Given the description of an element on the screen output the (x, y) to click on. 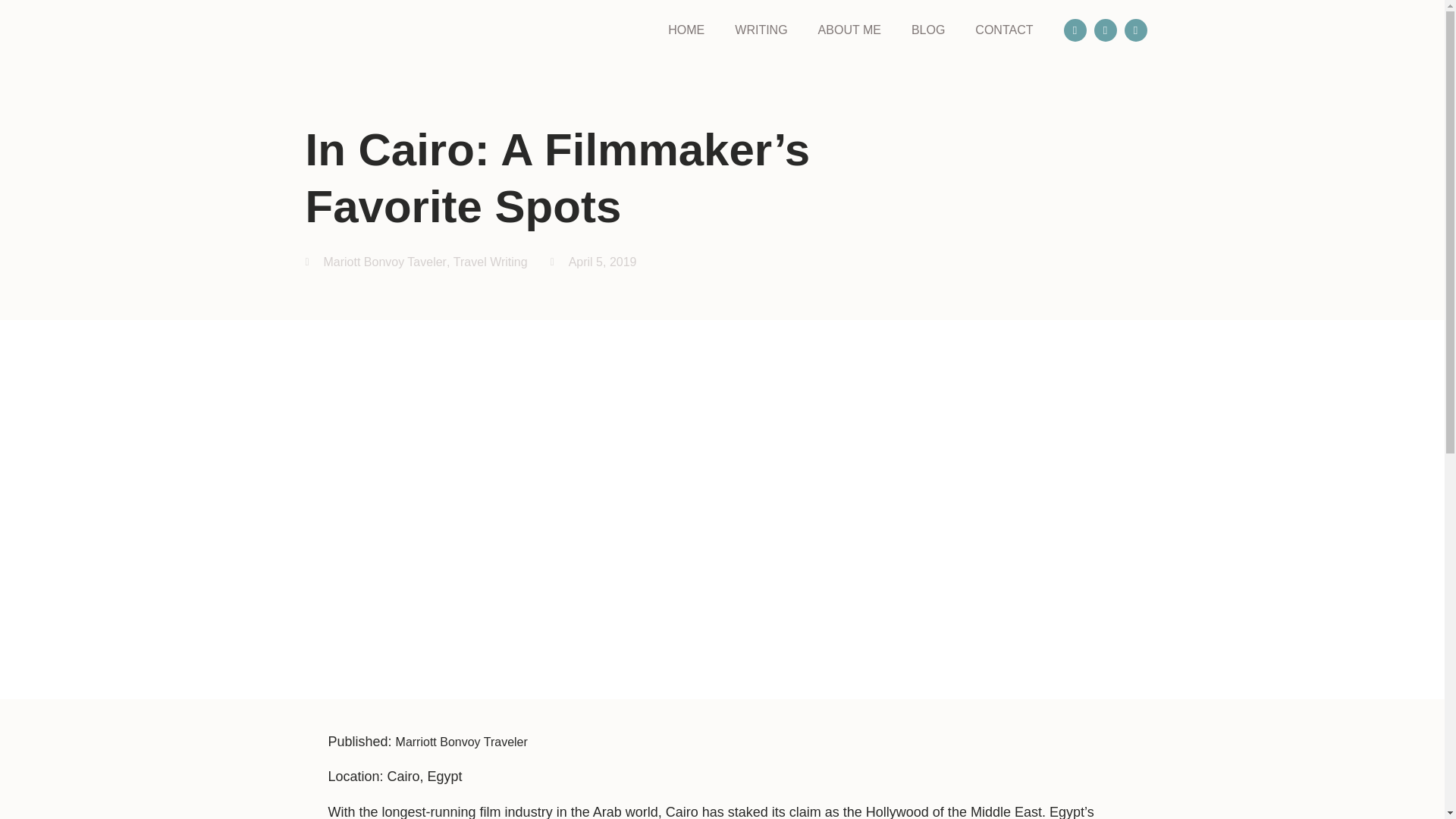
Mariott Bonvoy Taveler (384, 261)
CONTACT (1003, 30)
April 5, 2019 (593, 261)
ABOUT ME (849, 30)
Marriott Bonvoy Traveler  (463, 741)
BLOG (927, 30)
WRITING (761, 30)
HOME (686, 30)
Travel Writing (489, 261)
